Given the description of an element on the screen output the (x, y) to click on. 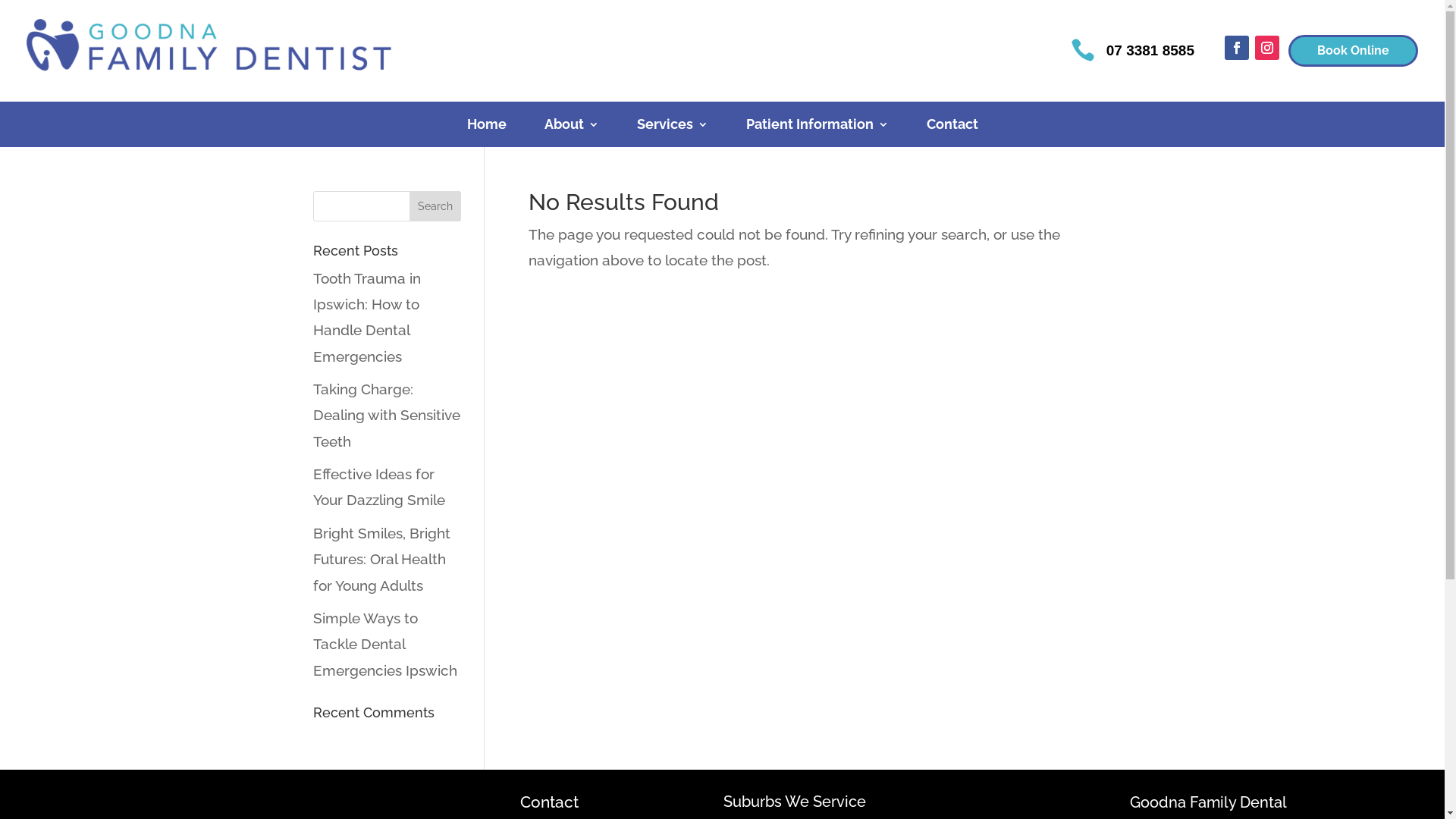
Follow on Instagram Element type: hover (1267, 47)
Effective Ideas for Your Dazzling Smile Element type: text (378, 486)
Home Element type: text (486, 127)
Book Online Element type: text (1353, 50)
Bright Smiles, Bright Futures: Oral Health for Young Adults Element type: text (380, 558)
Patient Information Element type: text (817, 127)
Services Element type: text (672, 127)
Simple Ways to Tackle Dental Emergencies Ipswich Element type: text (384, 643)
Follow on Facebook Element type: hover (1236, 47)
Tooth Trauma in Ipswich: How to Handle Dental Emergencies Element type: text (366, 316)
Search Element type: text (435, 206)
07 3381 8585 Element type: text (1150, 50)
Goodna Family Dentist - Logo Element type: hover (211, 50)
Taking Charge: Dealing with Sensitive Teeth Element type: text (385, 414)
Contact Element type: text (952, 127)
About Element type: text (571, 127)
